Given the description of an element on the screen output the (x, y) to click on. 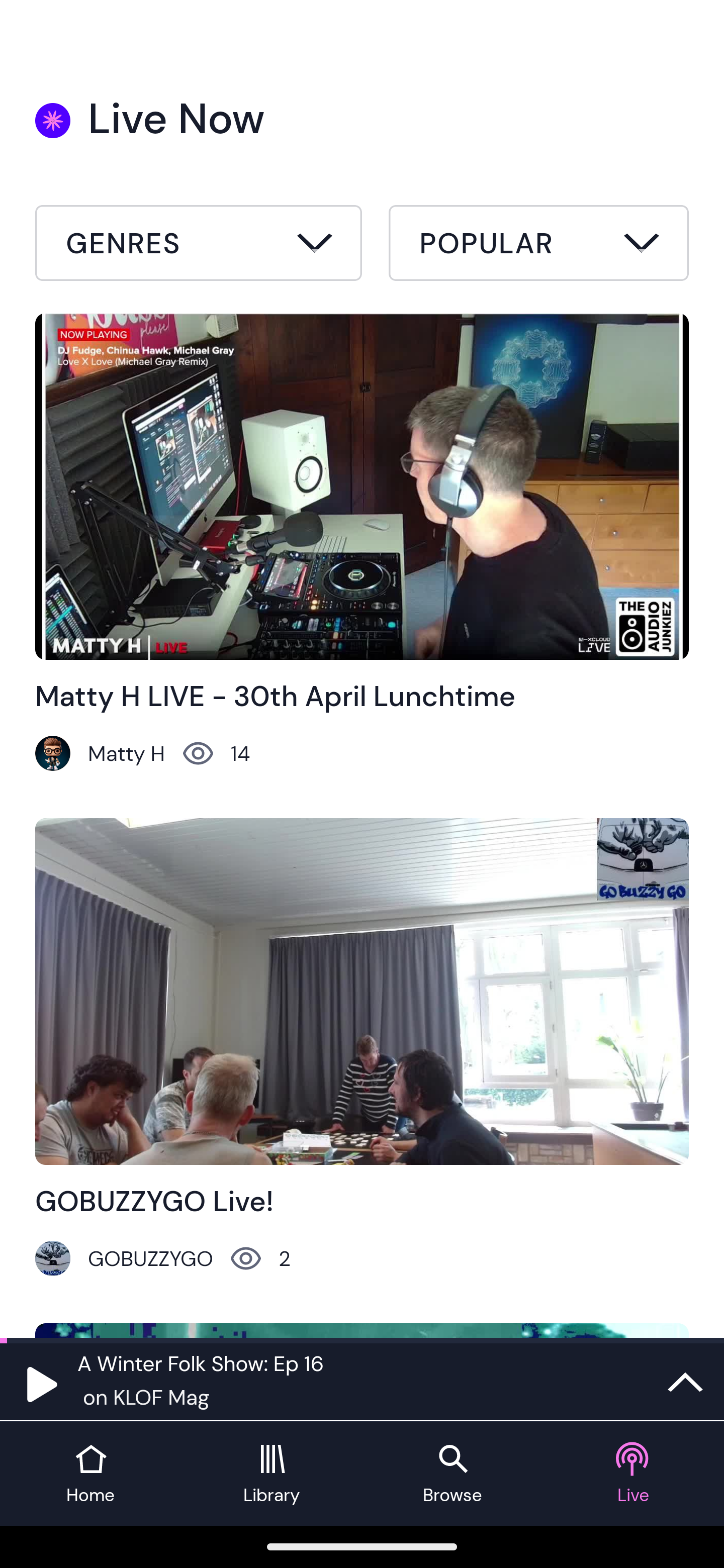
Filter by button All (198, 245)
Filter by button GENRES (198, 242)
Sort by button Popular (538, 245)
Sort by button POPULAR (538, 242)
Home tab Home (90, 1473)
Library tab Library (271, 1473)
Browse tab Browse (452, 1473)
Live tab Live (633, 1473)
